Given the description of an element on the screen output the (x, y) to click on. 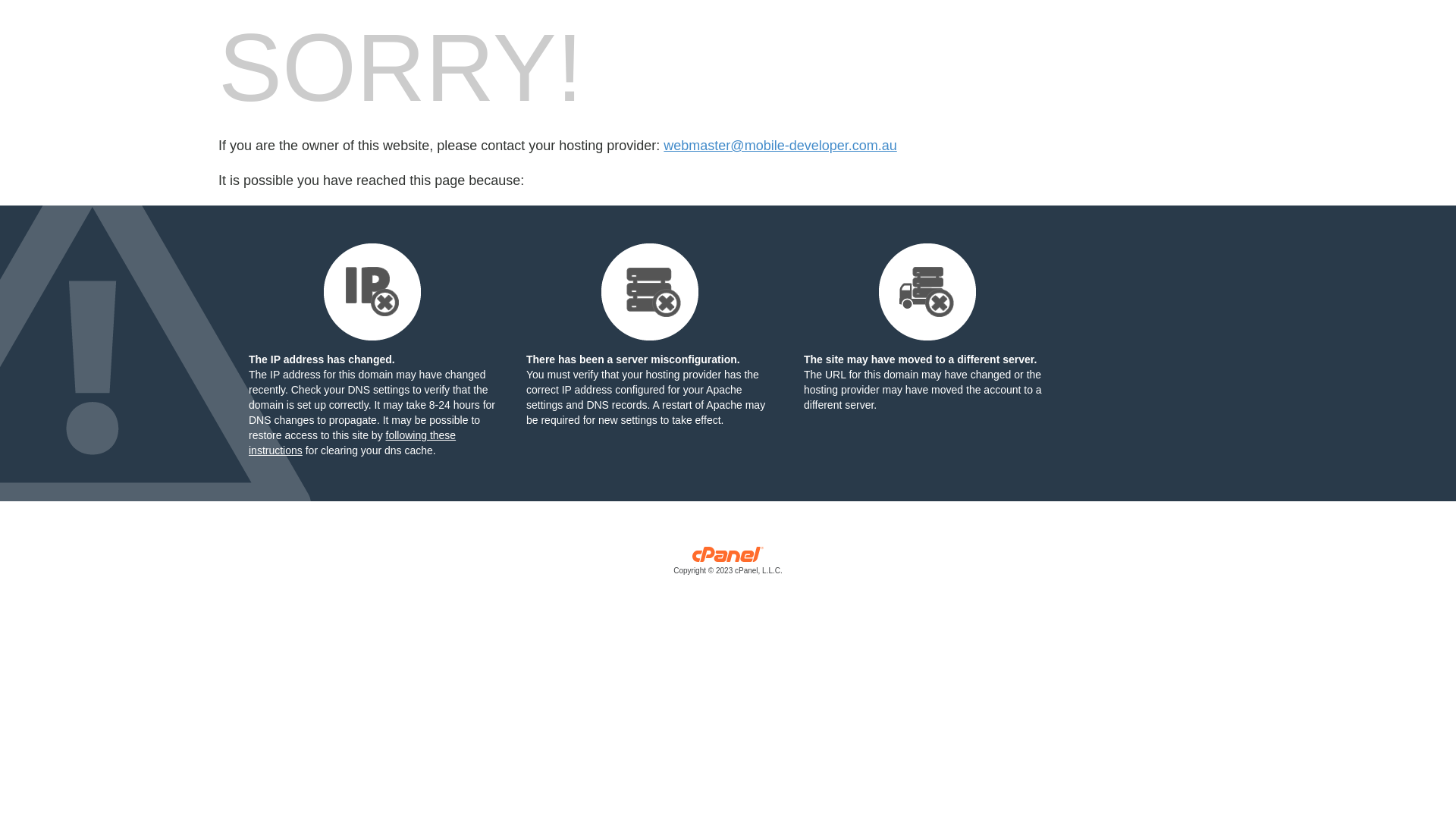
following these instructions Element type: text (351, 442)
webmaster@mobile-developer.com.au Element type: text (779, 145)
